Given the description of an element on the screen output the (x, y) to click on. 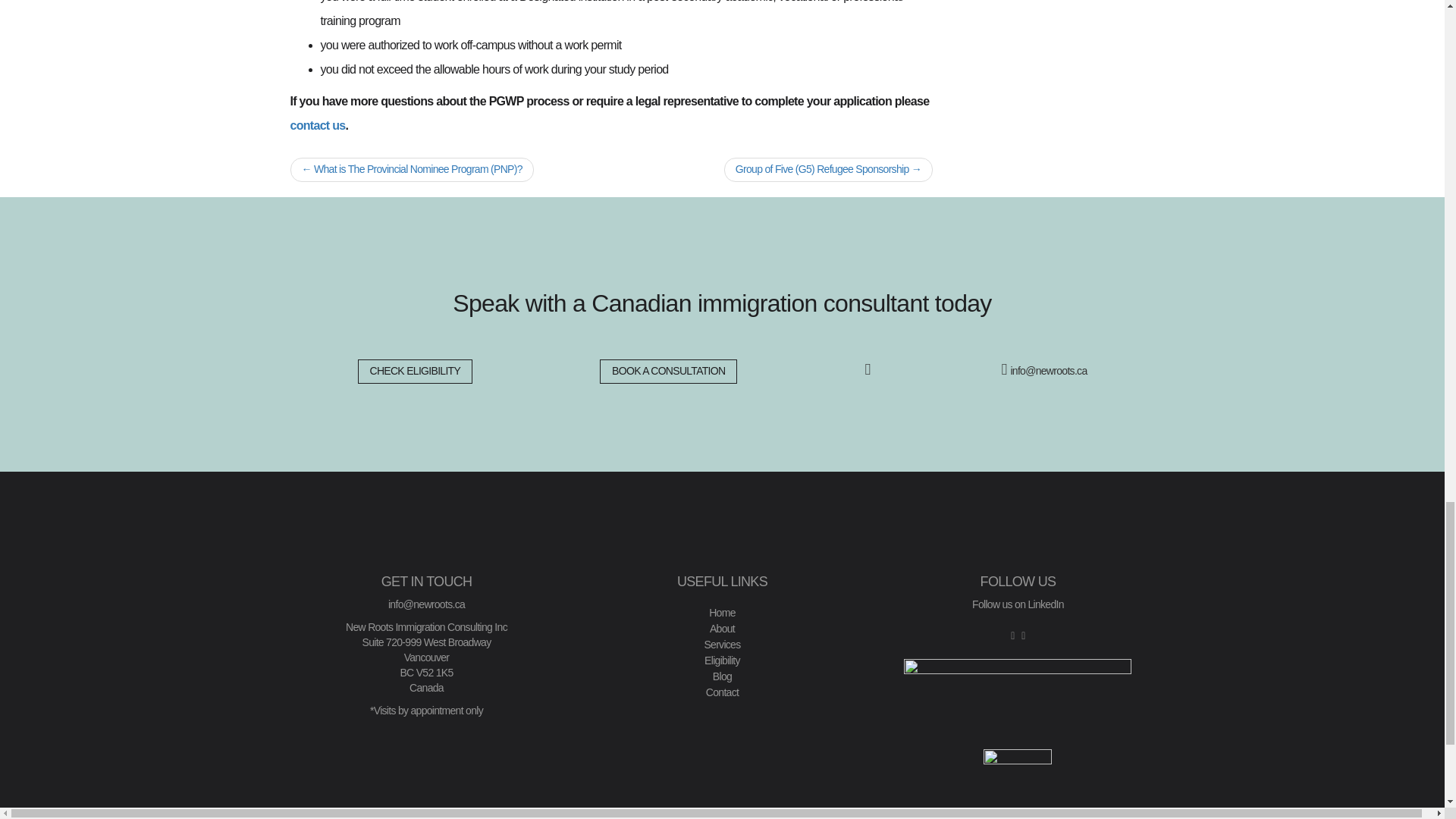
contact us (317, 124)
CHECK ELIGIBILITY (415, 371)
BOOK A CONSULTATION (667, 371)
